Given the description of an element on the screen output the (x, y) to click on. 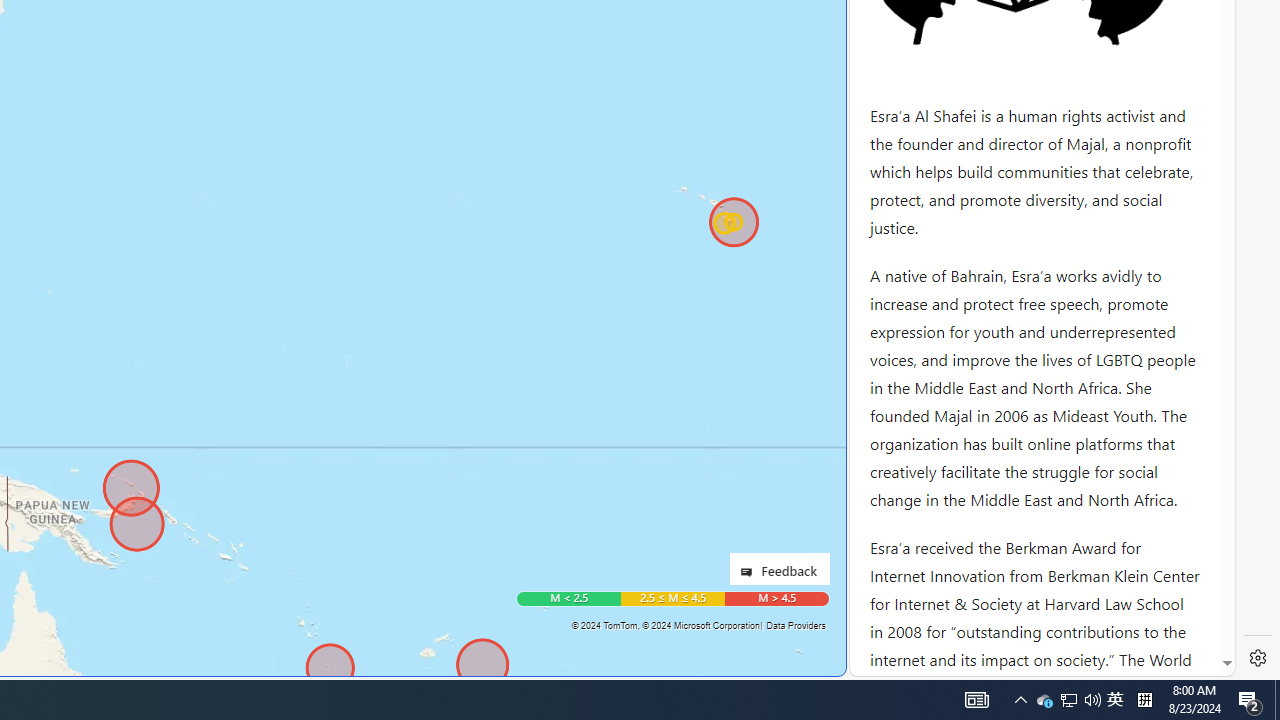
google_privacy_policy_zh-CN.pdf (687, 482)
